Given the description of an element on the screen output the (x, y) to click on. 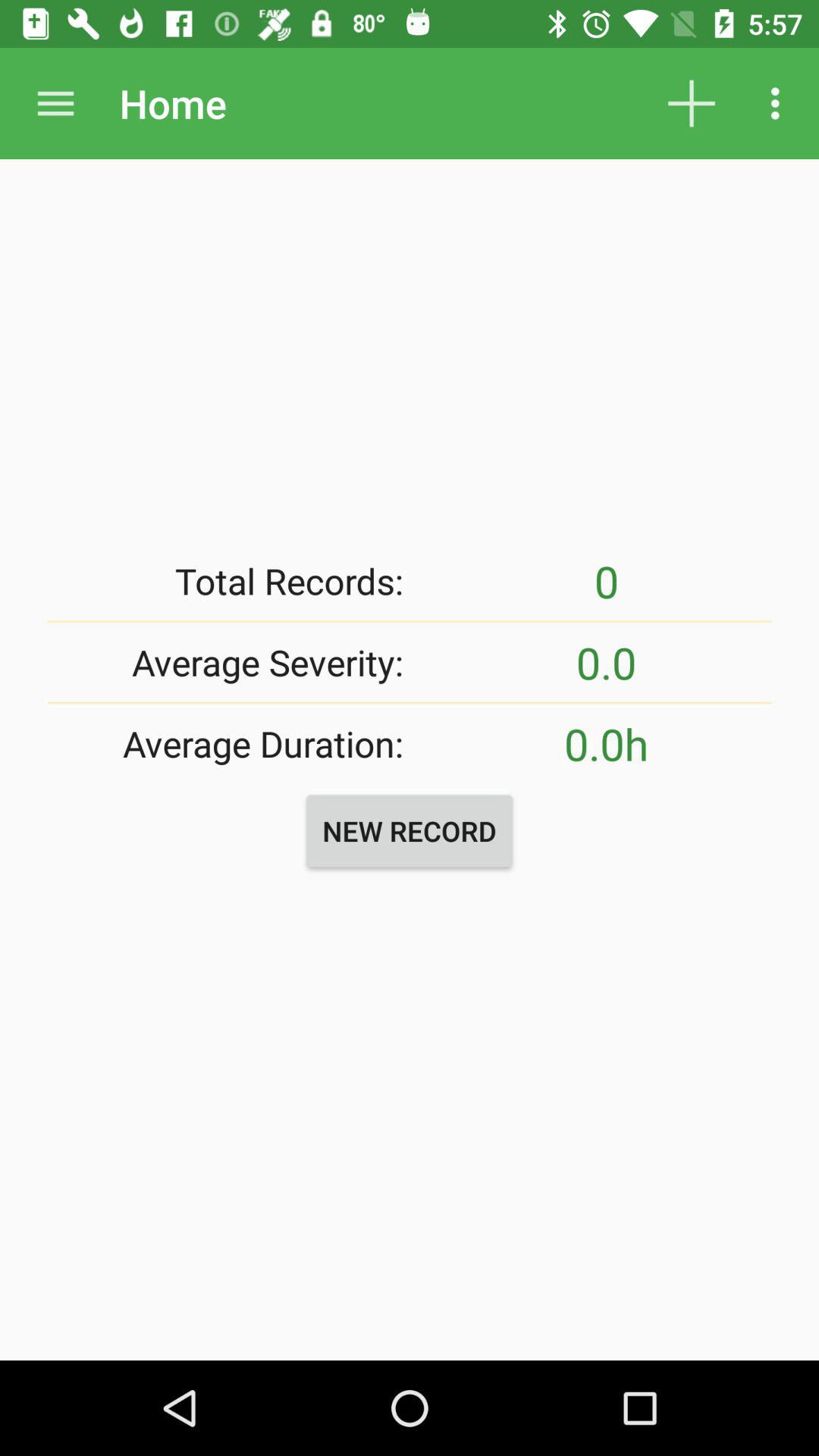
turn off app above total records: icon (55, 103)
